Given the description of an element on the screen output the (x, y) to click on. 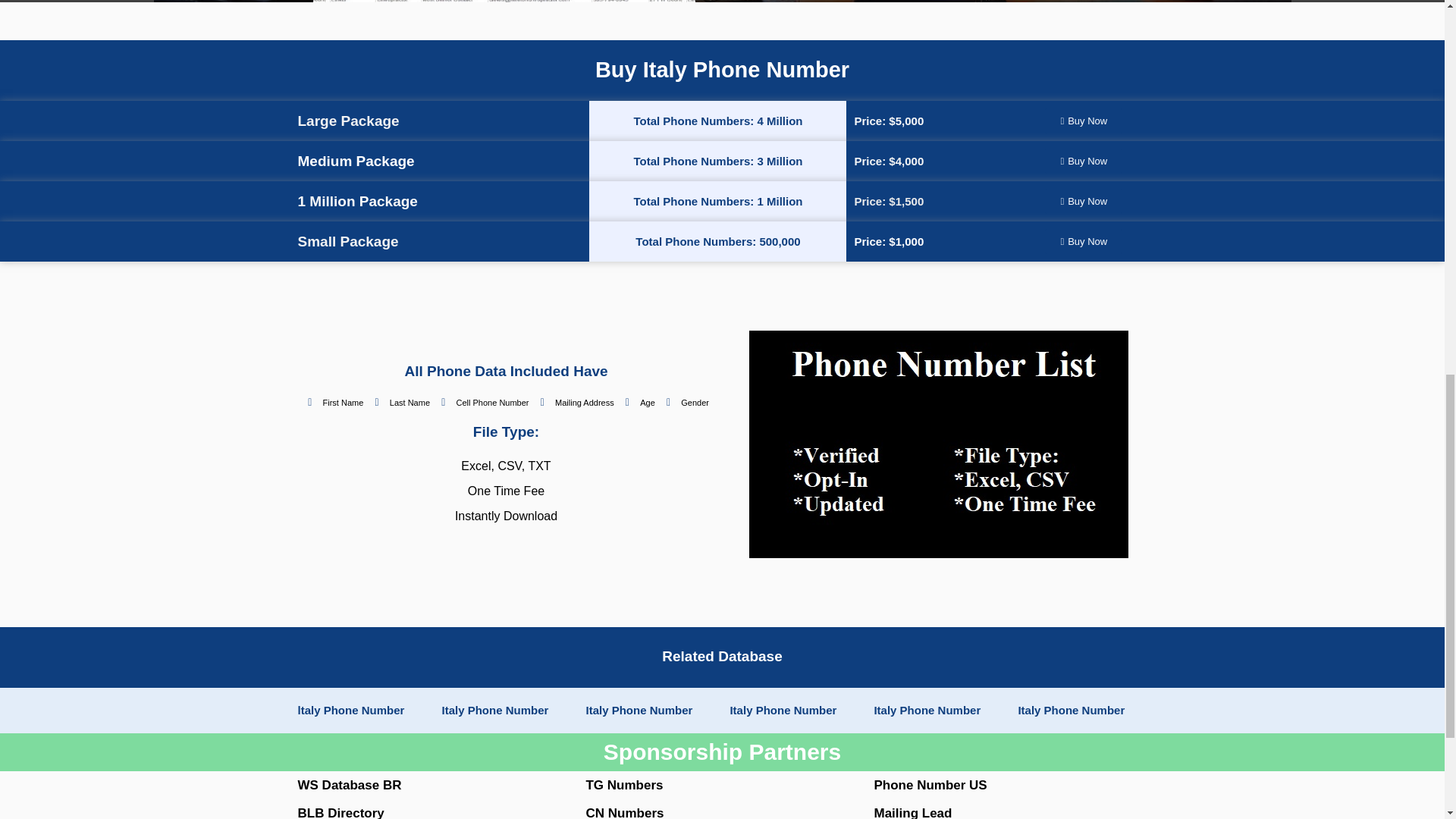
Italy Phone Number (494, 709)
Italy Phone Number (926, 709)
Italy Phone Number (1070, 709)
Phone Number US (930, 785)
WS Database BR (349, 785)
ltaly Phone Number (350, 709)
Italy Phone Number (782, 709)
Buy Now (1083, 241)
TG Numbers (623, 785)
CN Numbers (624, 812)
Buy Now (1083, 160)
BLB Directory (340, 812)
Buy Now (1083, 120)
Italy Phone Number (639, 709)
Buy Now (1083, 201)
